Given the description of an element on the screen output the (x, y) to click on. 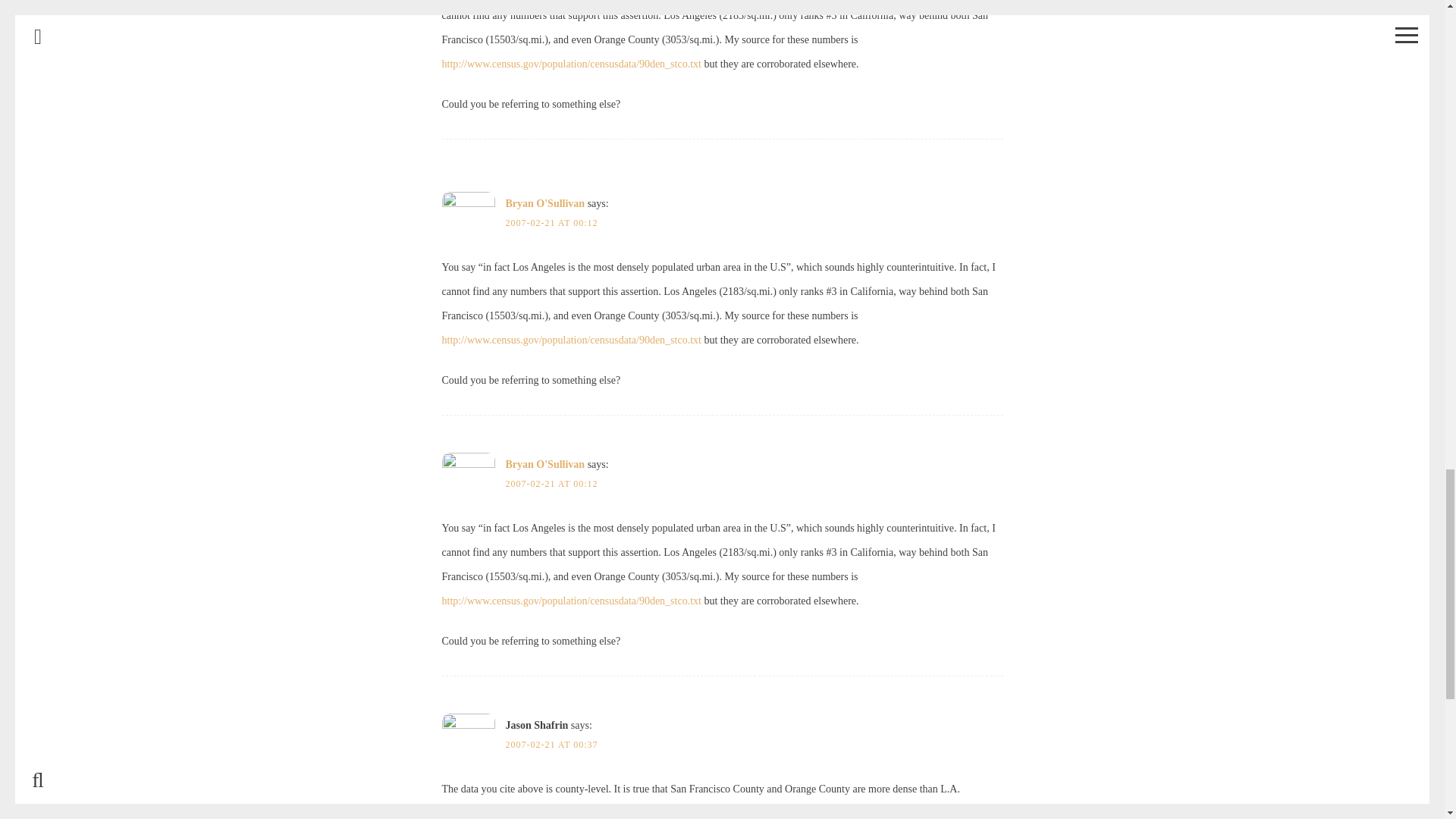
Bryan O'Sullivan (545, 464)
Bryan O'Sullivan (545, 203)
2007-02-21 AT 00:37 (550, 744)
2007-02-21 AT 00:12 (550, 483)
2007-02-21 AT 00:12 (550, 222)
